Given the description of an element on the screen output the (x, y) to click on. 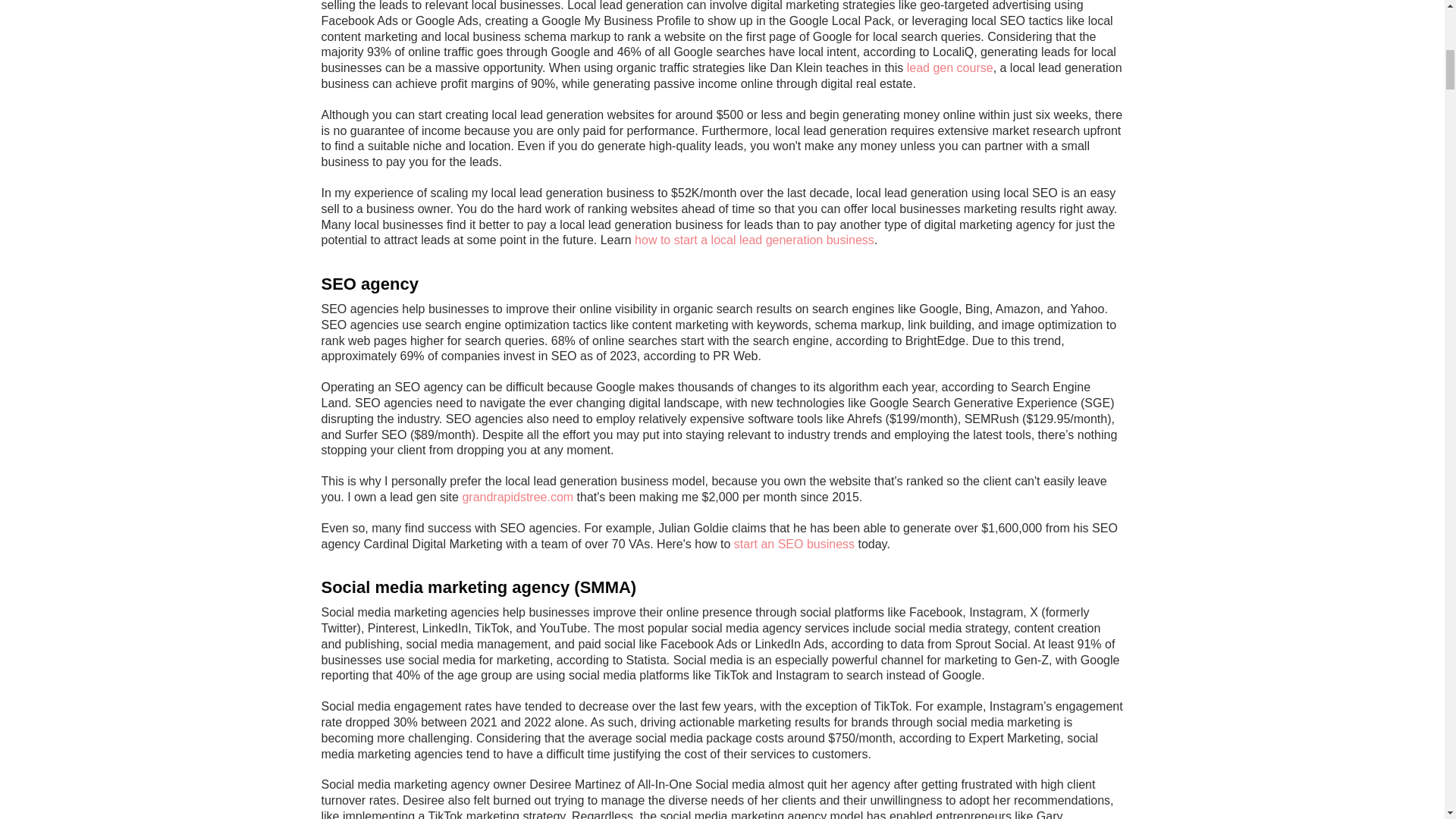
lead gen course (949, 67)
how to start a local lead generation business (754, 239)
start an SEO business (793, 543)
grandrapidstree.com (517, 496)
